Given the description of an element on the screen output the (x, y) to click on. 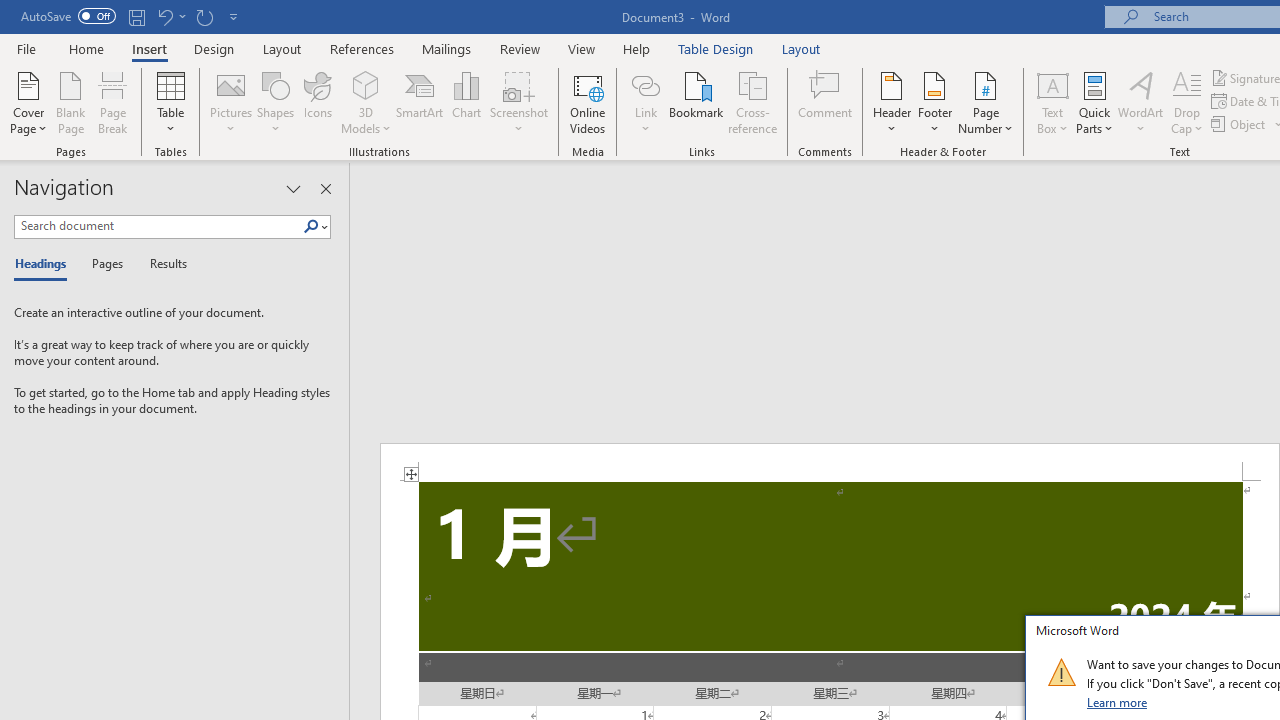
Header (891, 102)
Comment (825, 102)
3D Models (366, 102)
Page Break (113, 102)
Undo Increase Indent (170, 15)
Link (645, 102)
